Given the description of an element on the screen output the (x, y) to click on. 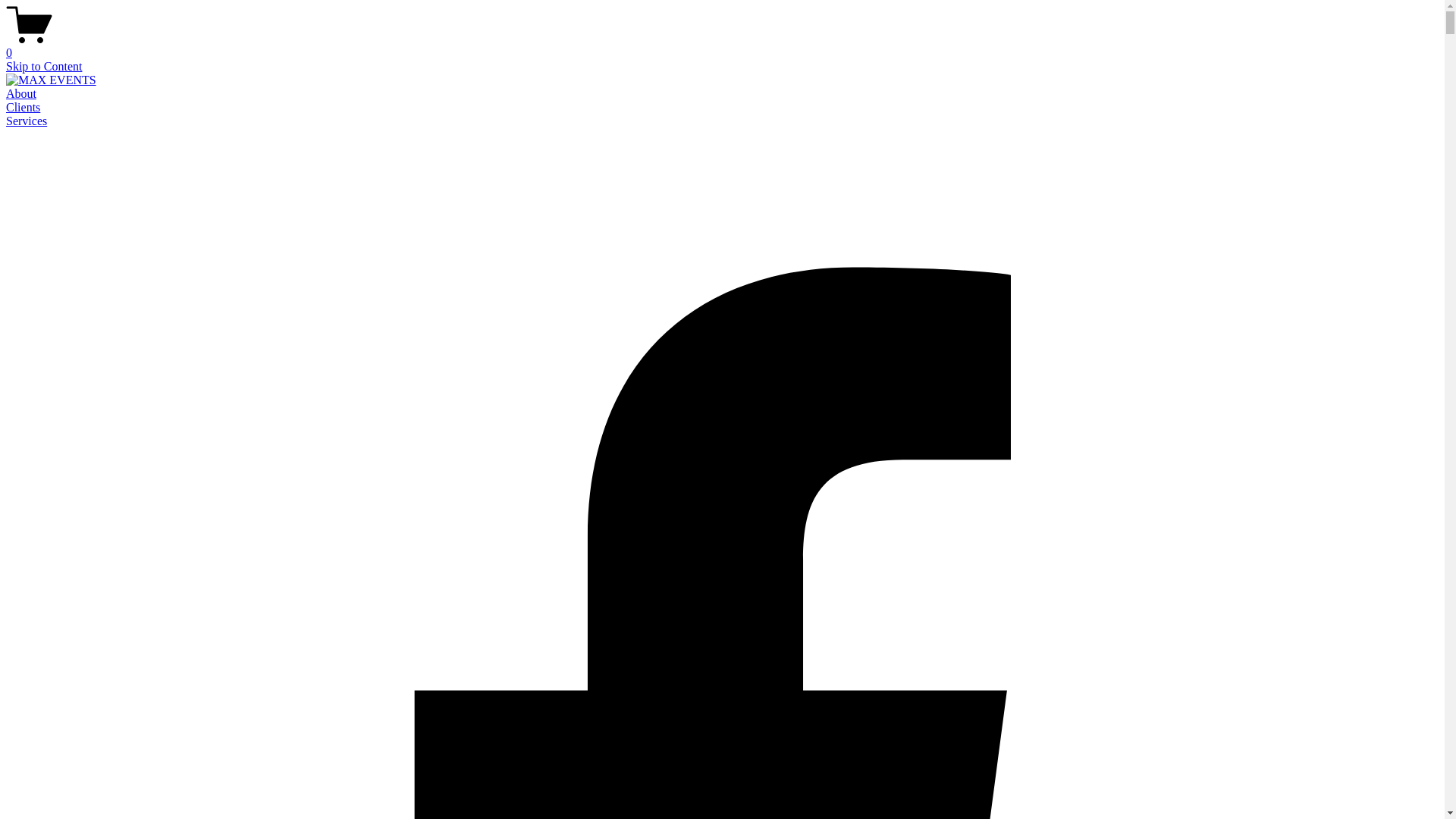
About Element type: text (21, 93)
Clients Element type: text (23, 106)
Skip to Content Element type: text (43, 65)
0 Element type: text (722, 45)
Services Element type: text (26, 120)
